Given the description of an element on the screen output the (x, y) to click on. 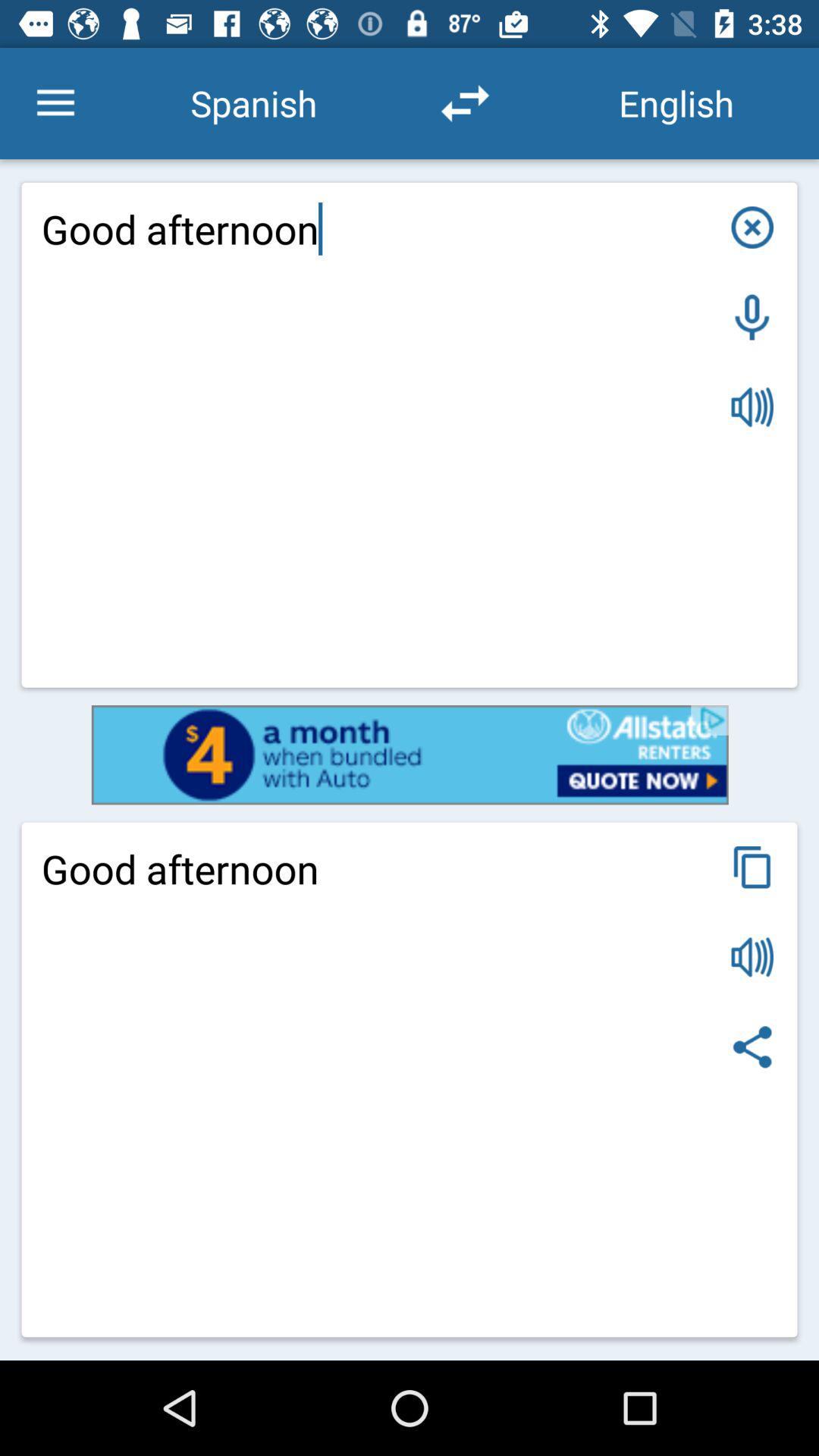
go to speakev (752, 957)
